Given the description of an element on the screen output the (x, y) to click on. 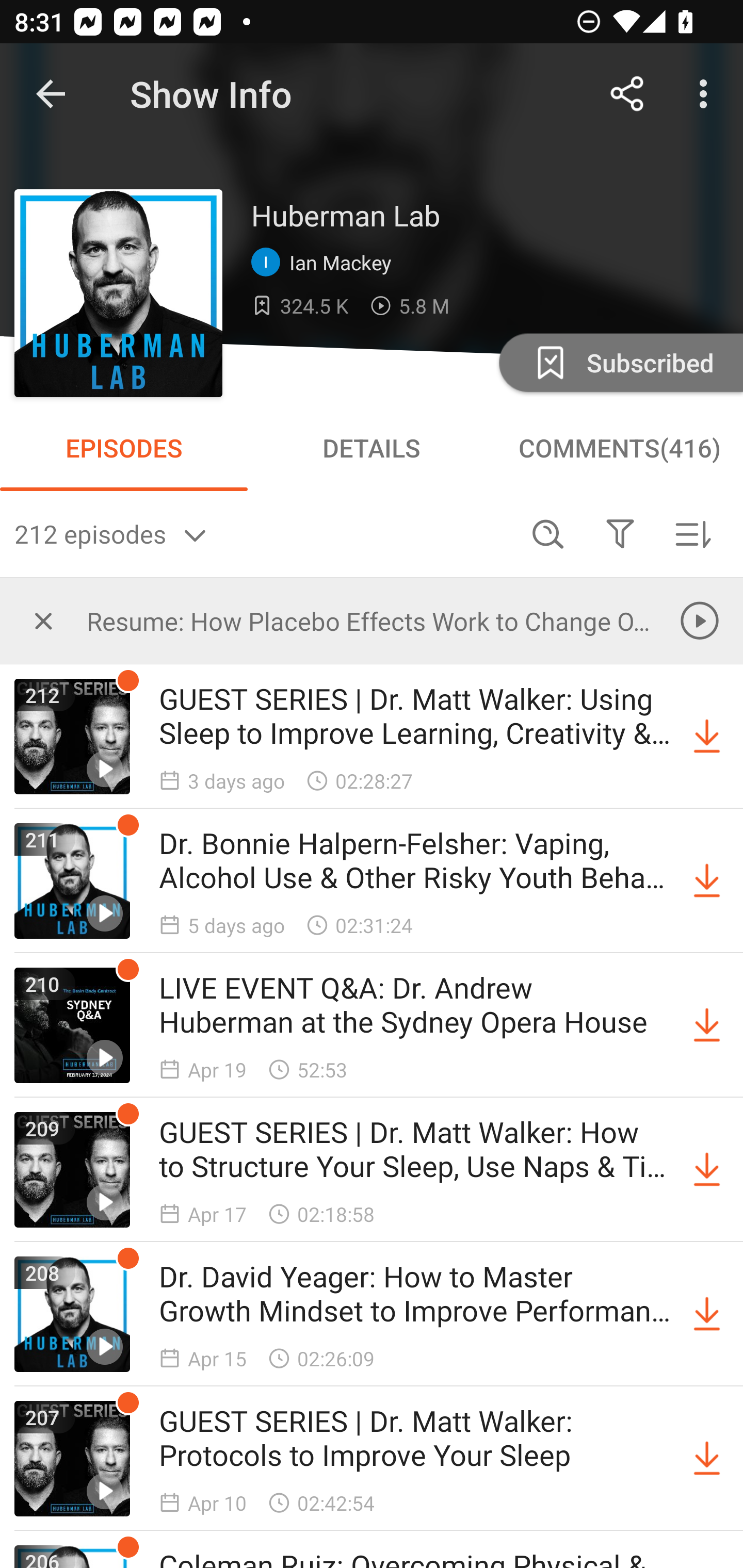
Navigate up (50, 93)
Share (626, 93)
More options (706, 93)
Ian Mackey (326, 262)
Unsubscribe Subscribed (619, 361)
EPISODES (123, 447)
DETAILS (371, 447)
COMMENTS(416) (619, 447)
212 episodes  (262, 533)
 Search (547, 533)
 (619, 533)
 Sorted by newest first (692, 533)
 (43, 620)
Download (706, 736)
Download (706, 881)
Download (706, 1025)
Download (706, 1169)
Download (706, 1313)
Download (706, 1458)
